Given the description of an element on the screen output the (x, y) to click on. 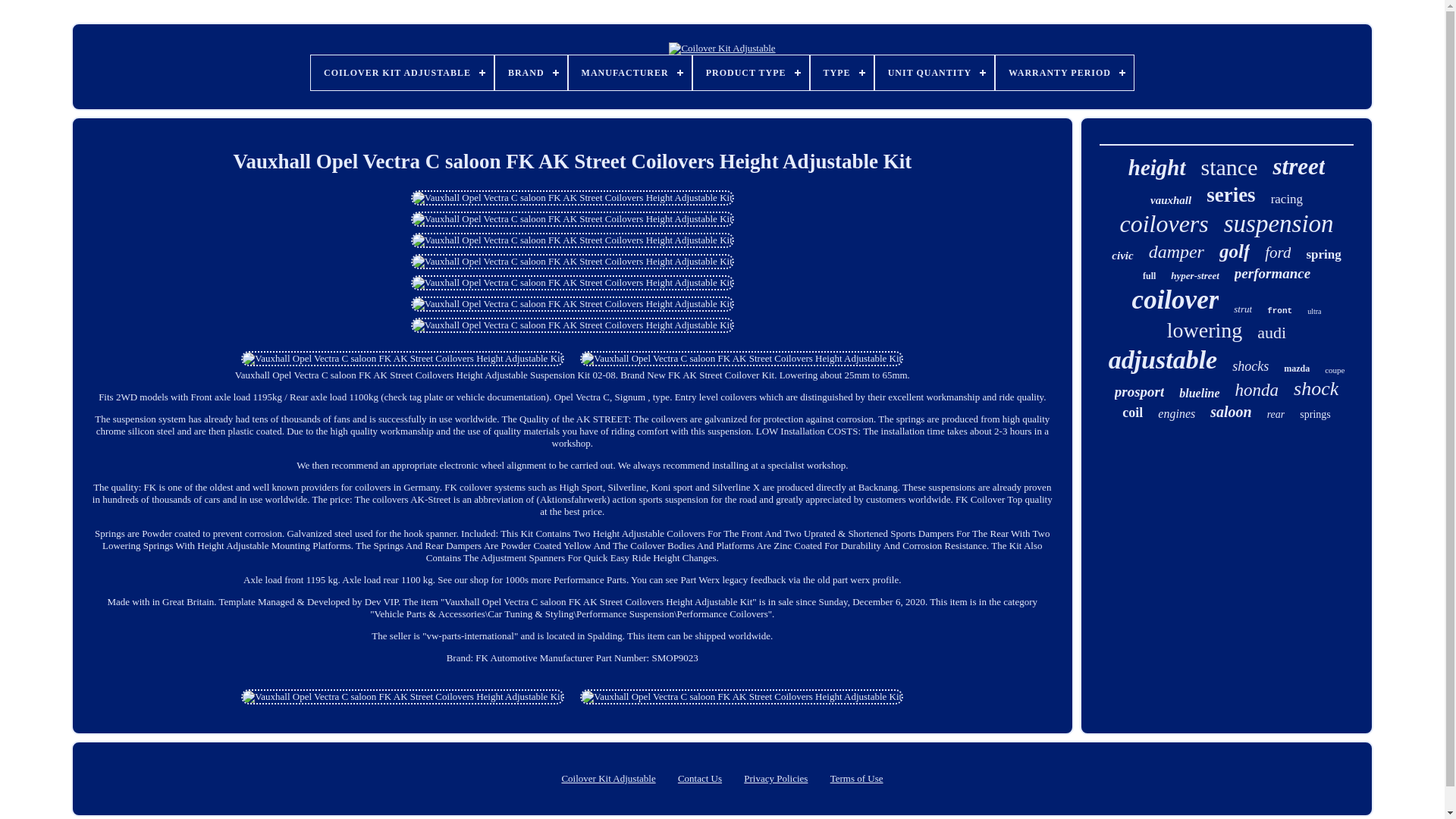
BRAND (531, 72)
COILOVER KIT ADJUSTABLE (402, 72)
MANUFACTURER (630, 72)
